Given the description of an element on the screen output the (x, y) to click on. 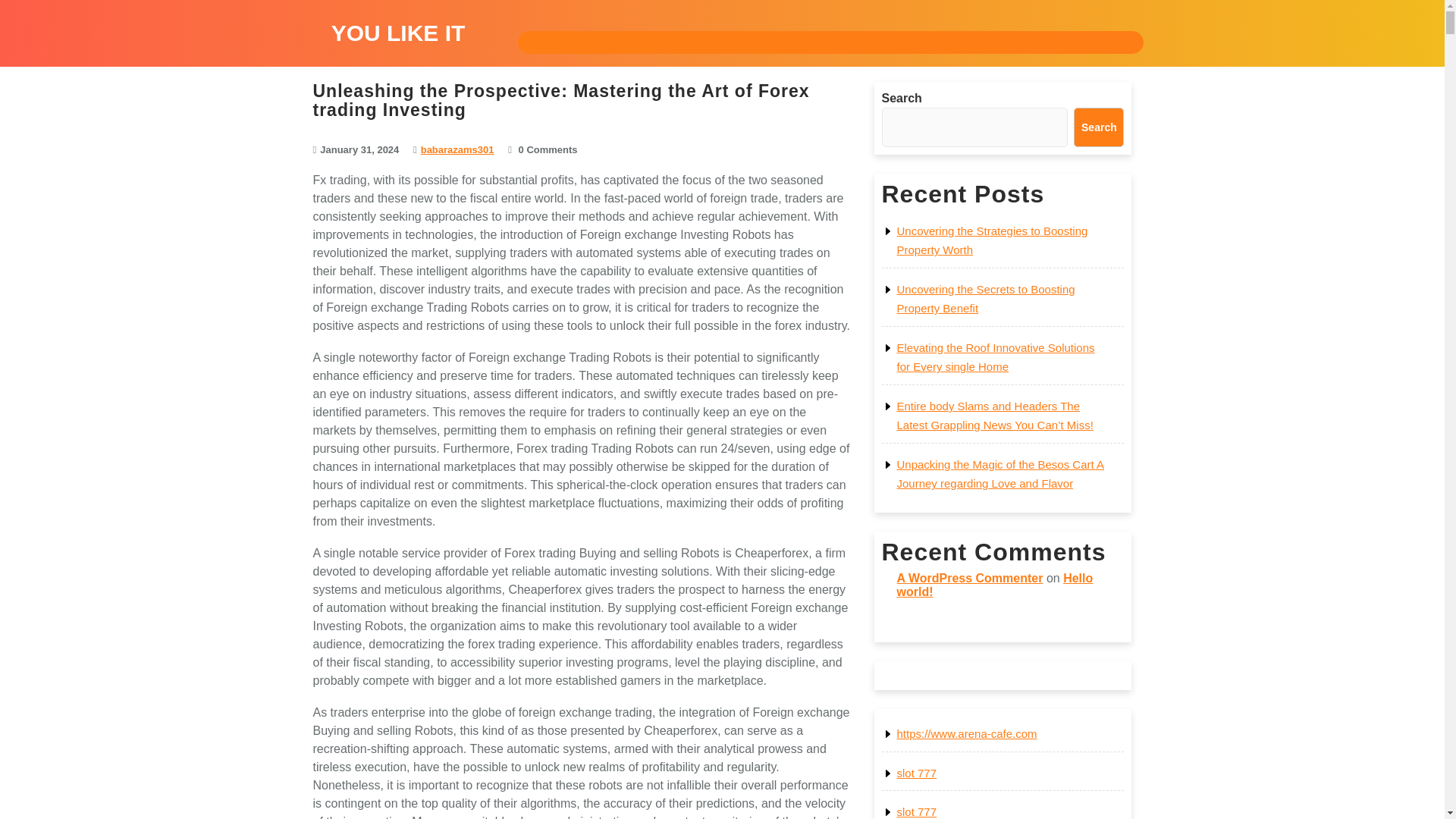
babarazams301 (457, 149)
slot 777 (916, 772)
Hello world! (994, 584)
slot 777 (916, 811)
Search (1099, 127)
Uncovering the Strategies to Boosting Property Worth (991, 240)
YOU LIKE IT (398, 32)
A WordPress Commenter (969, 577)
Uncovering the Secrets to Boosting Property Benefit (985, 298)
